Given the description of an element on the screen output the (x, y) to click on. 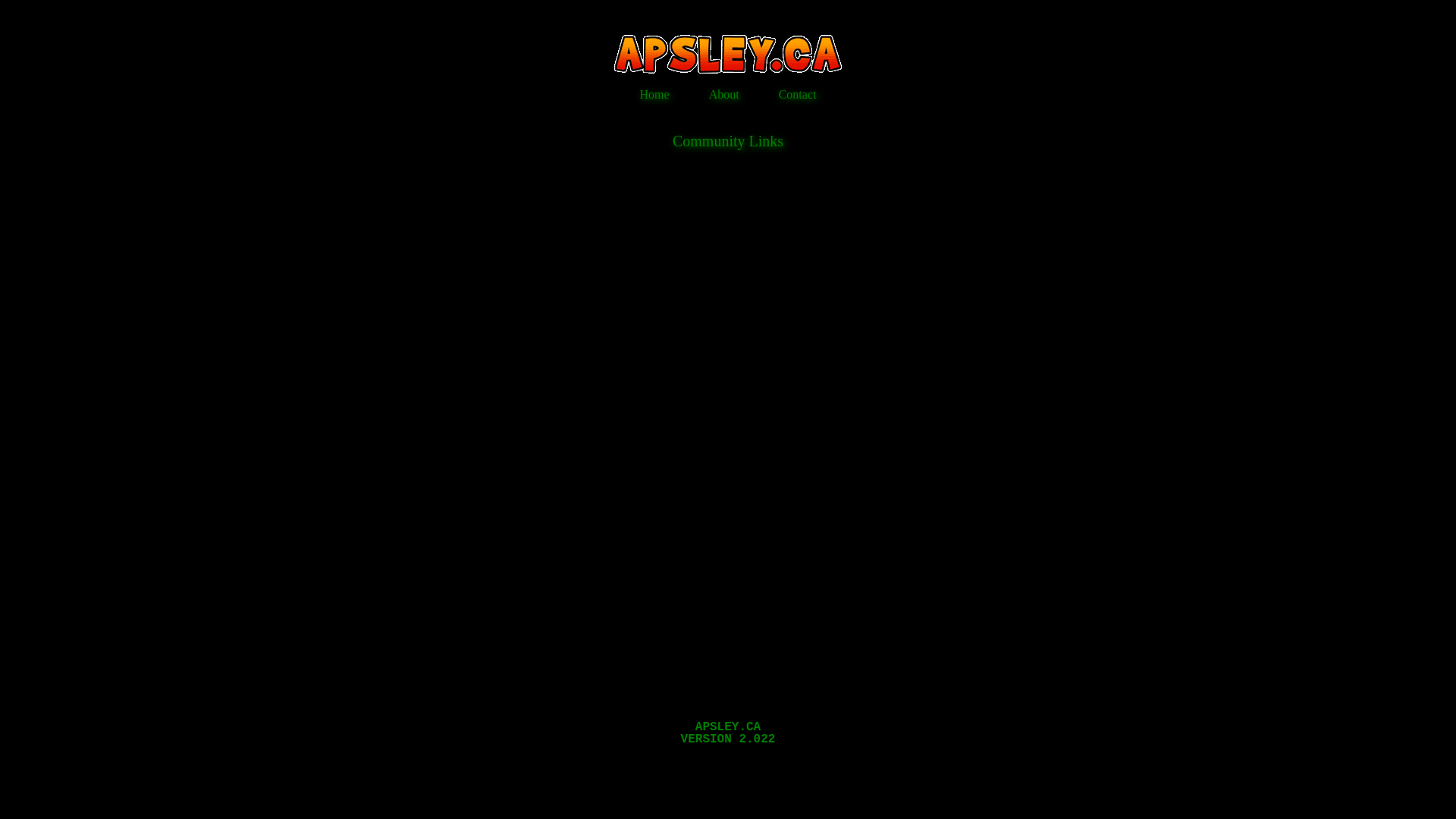
About Element type: text (723, 93)
Home Element type: text (654, 93)
Contact Element type: text (797, 93)
